Given the description of an element on the screen output the (x, y) to click on. 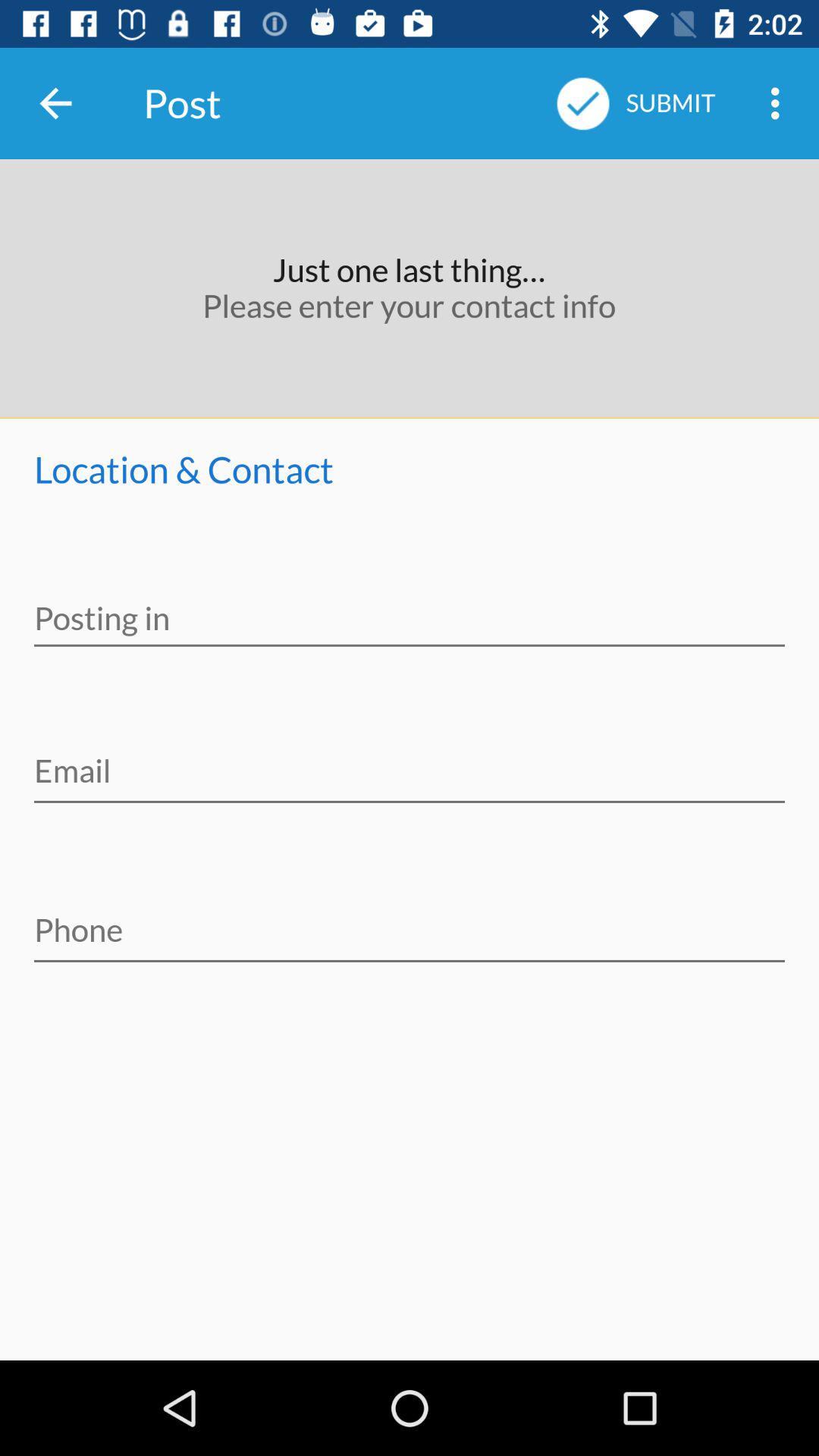
select phone textbox (409, 919)
